Given the description of an element on the screen output the (x, y) to click on. 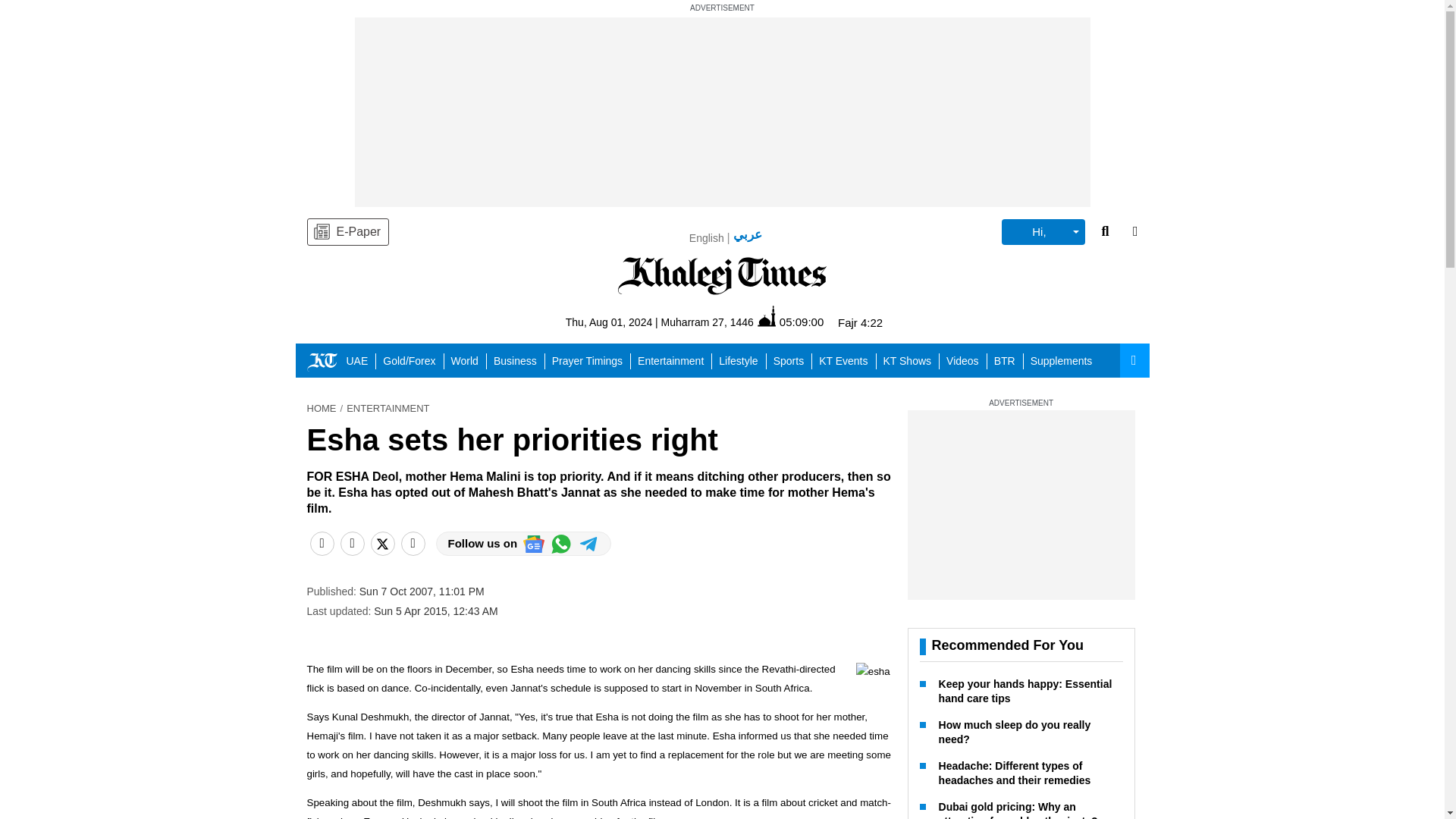
Fajr 4:22 (860, 322)
E-Paper (346, 231)
Hi, (1042, 232)
05:09:00 (790, 321)
